Given the description of an element on the screen output the (x, y) to click on. 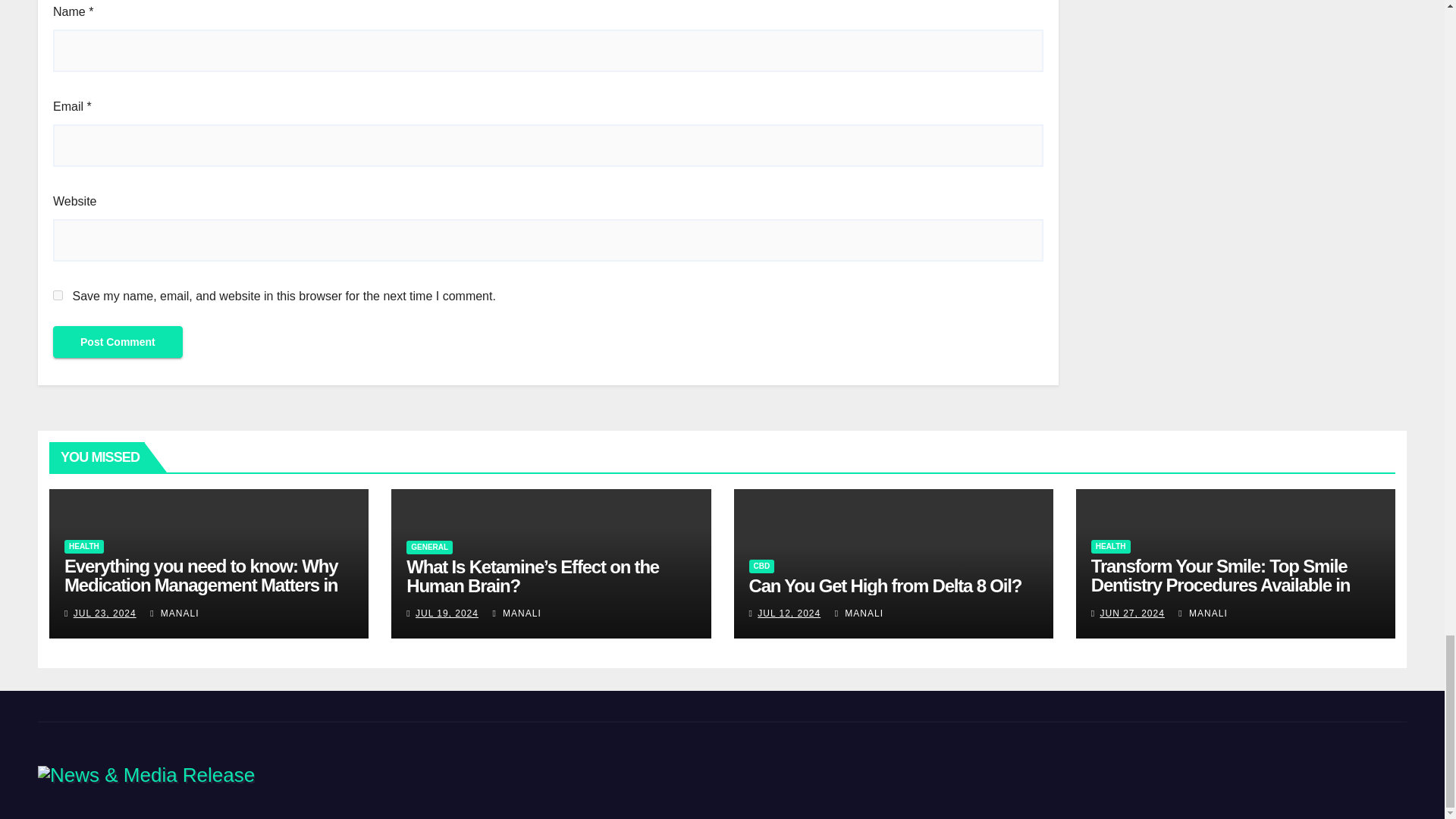
Permalink to: Can You Get High from Delta 8 Oil? (885, 585)
Post Comment (117, 341)
Post Comment (117, 341)
yes (57, 295)
